Given the description of an element on the screen output the (x, y) to click on. 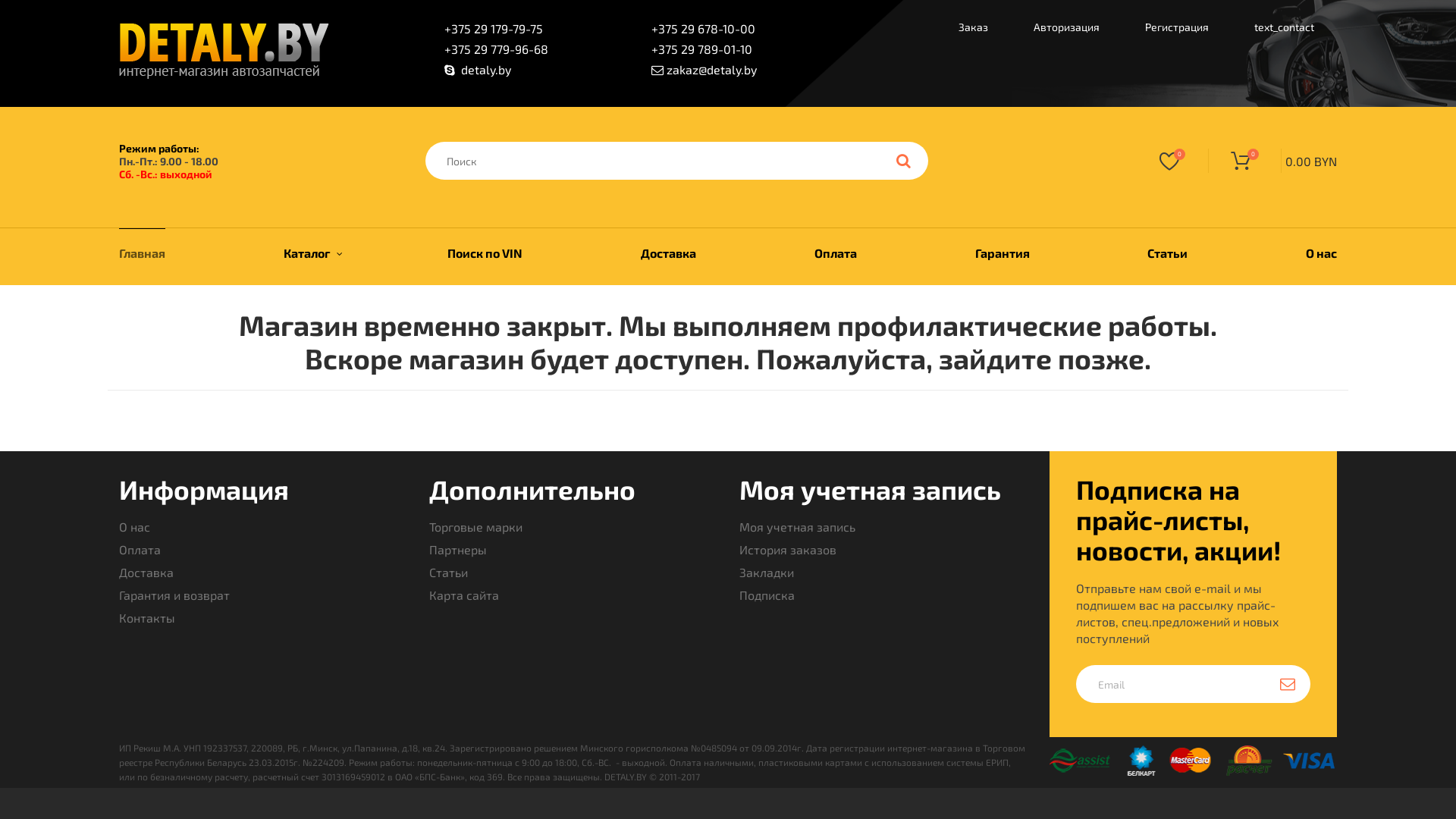
text_contact Element type: text (1283, 28)
0 Element type: text (1174, 160)
0
0.00 BYN Element type: text (1272, 160)
